Given the description of an element on the screen output the (x, y) to click on. 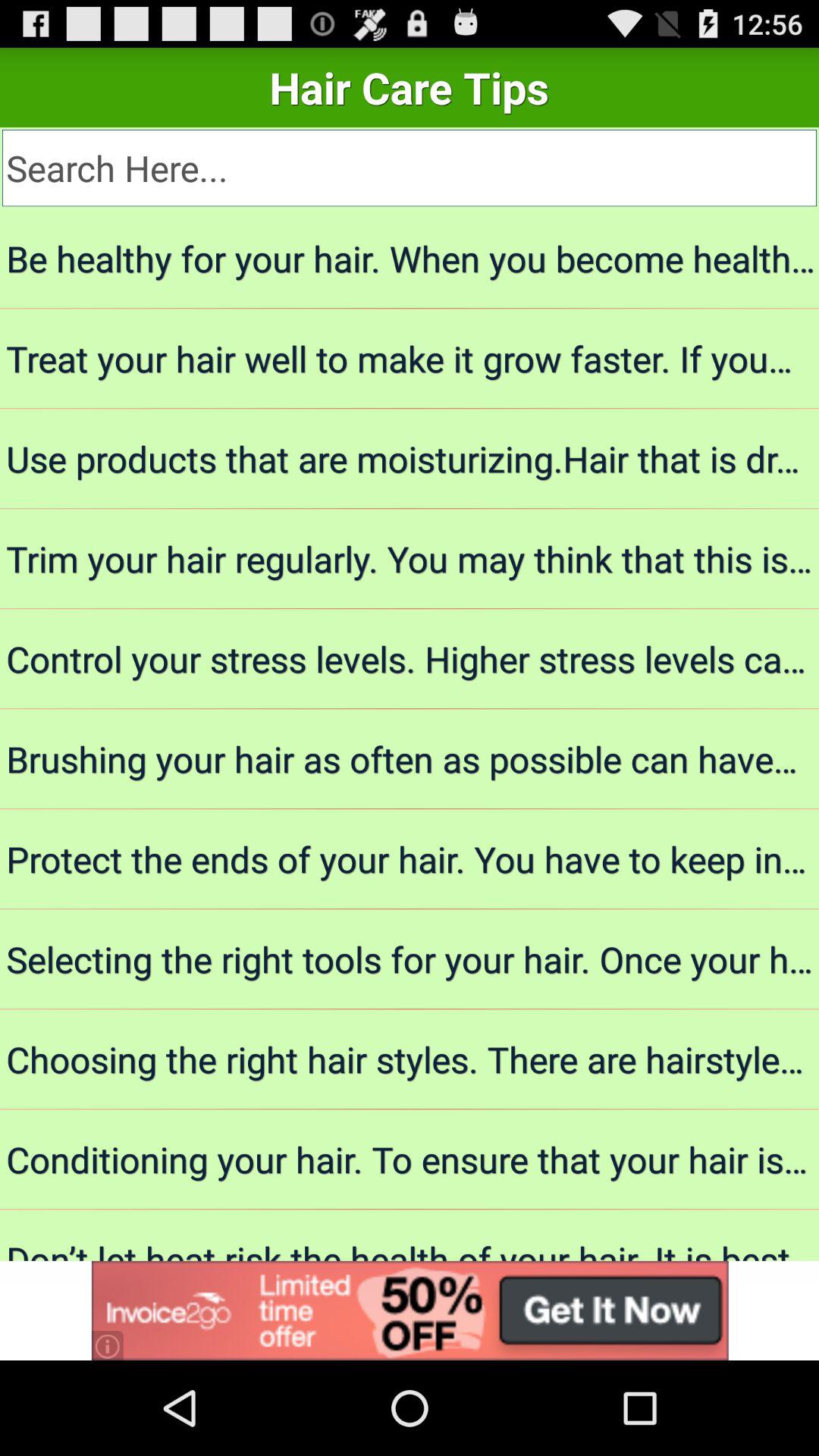
view advertisement (409, 1310)
